Given the description of an element on the screen output the (x, y) to click on. 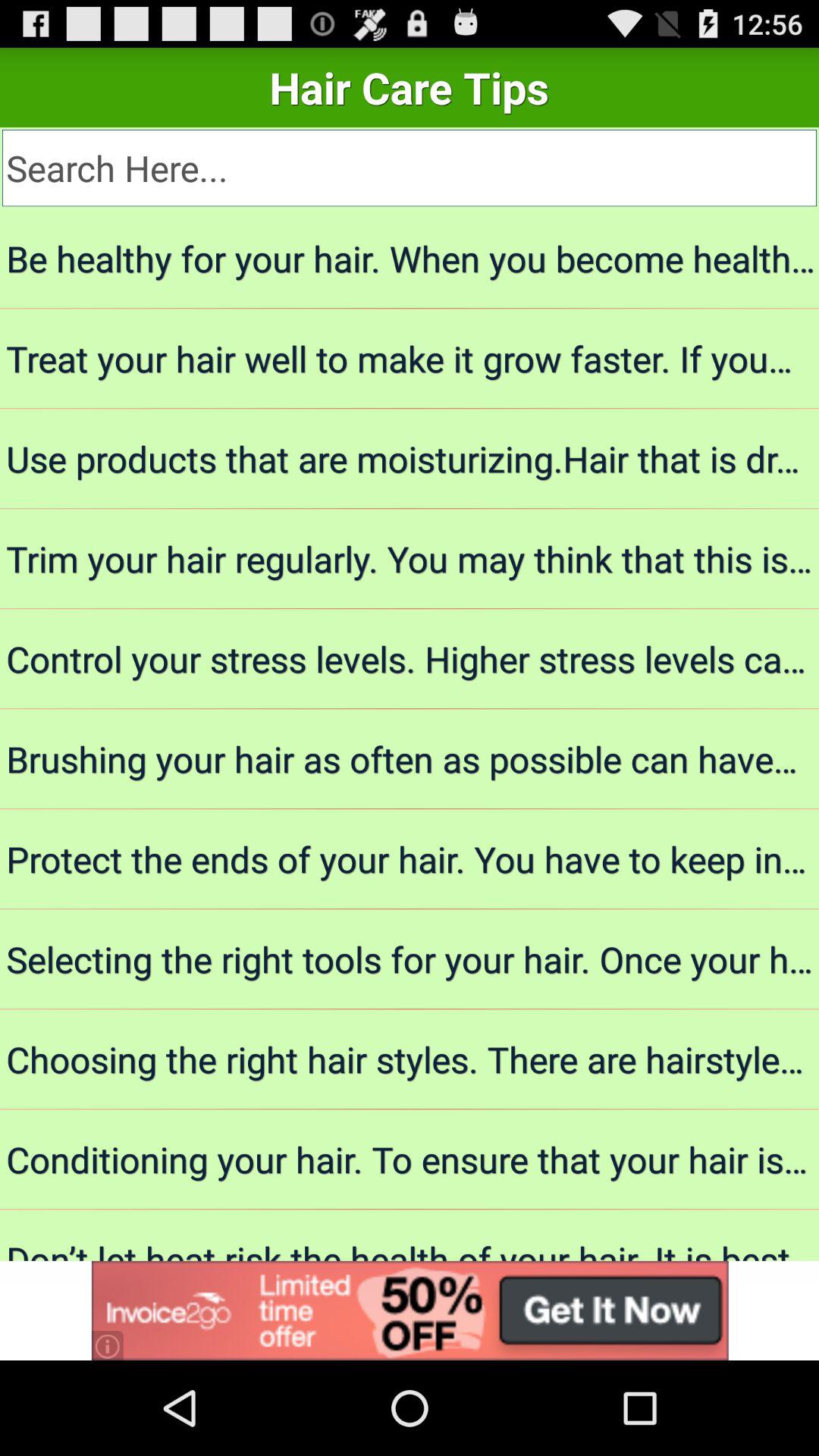
view advertisement (409, 1310)
